Given the description of an element on the screen output the (x, y) to click on. 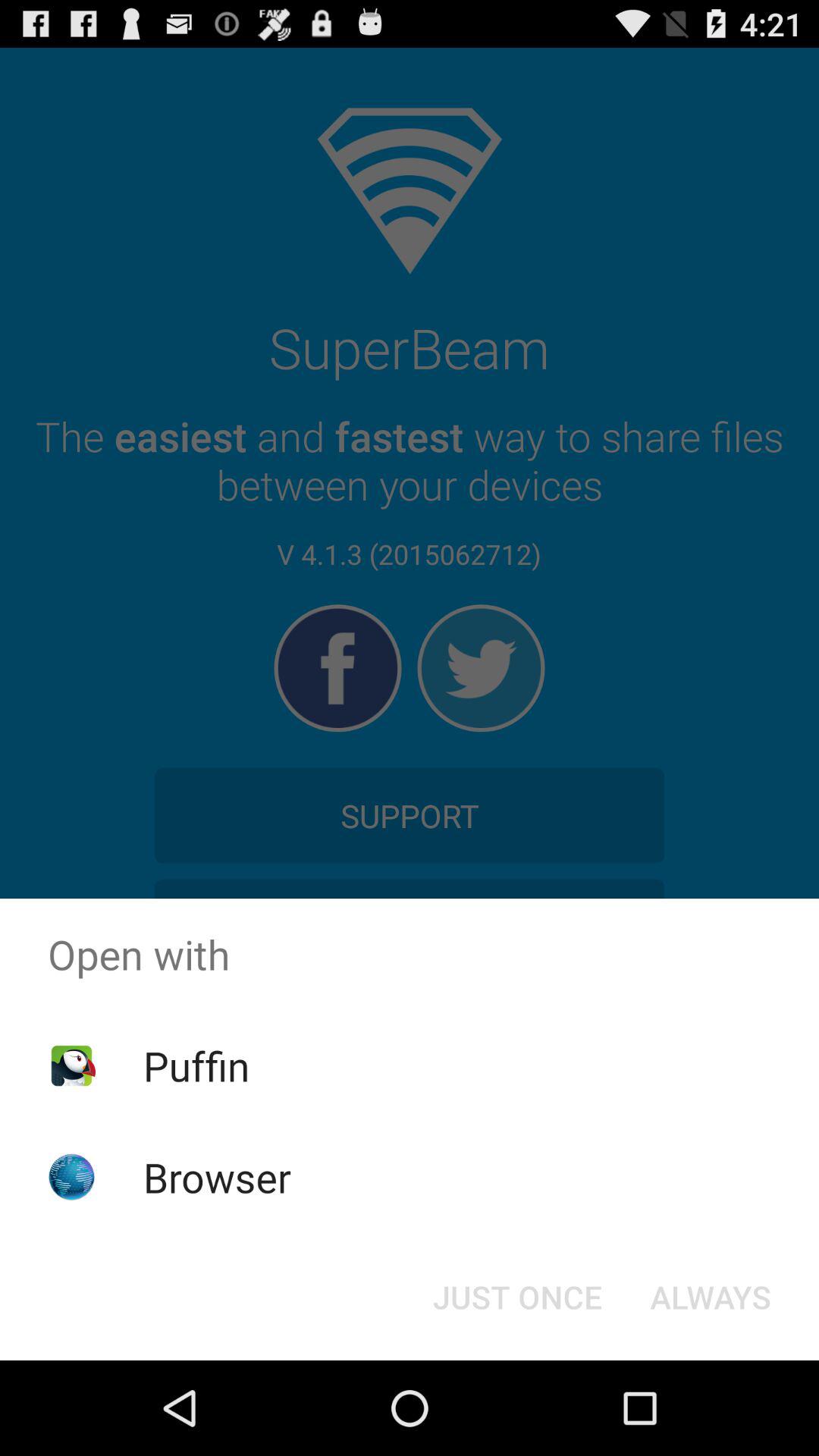
tap the icon to the right of the just once icon (710, 1296)
